Given the description of an element on the screen output the (x, y) to click on. 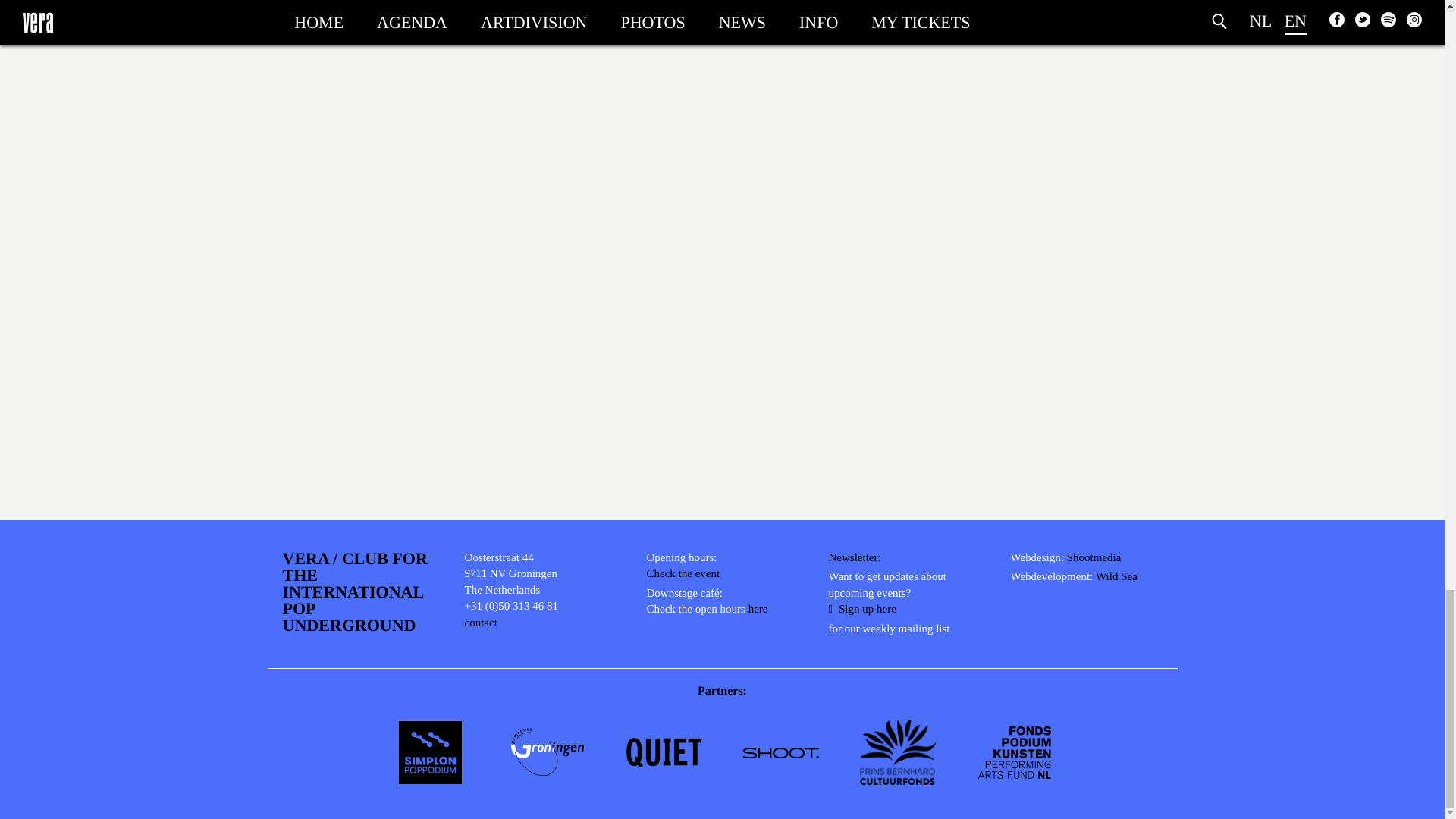
contact (480, 624)
Shootmedia (1094, 559)
here (758, 610)
Check the event (682, 575)
Sign up here (861, 610)
Newsletter: (854, 559)
Wild Sea (1116, 578)
